Given the description of an element on the screen output the (x, y) to click on. 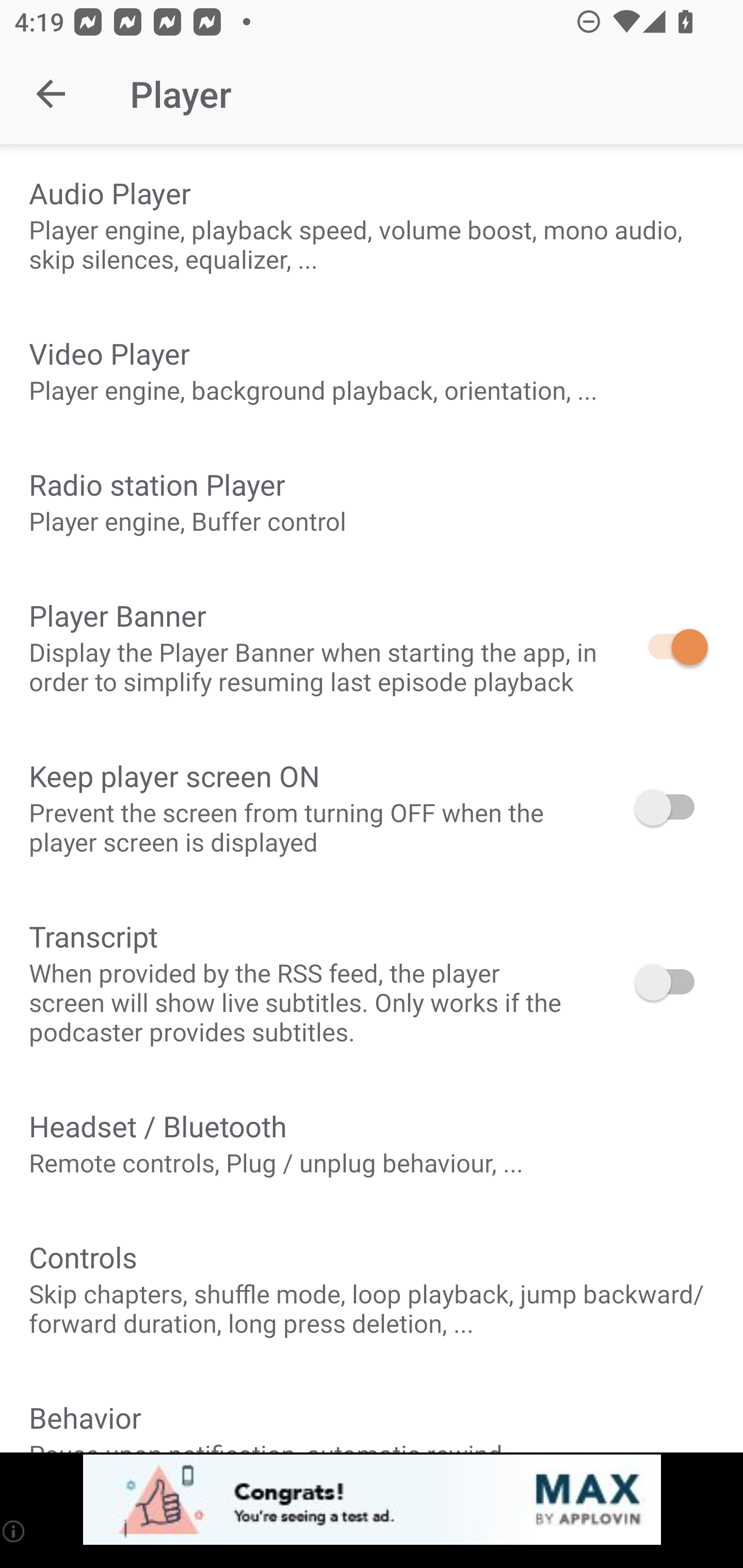
Navigate up (50, 93)
Radio station Player Player engine, Buffer control (371, 501)
app-monetization (371, 1500)
(i) (14, 1531)
